Given the description of an element on the screen output the (x, y) to click on. 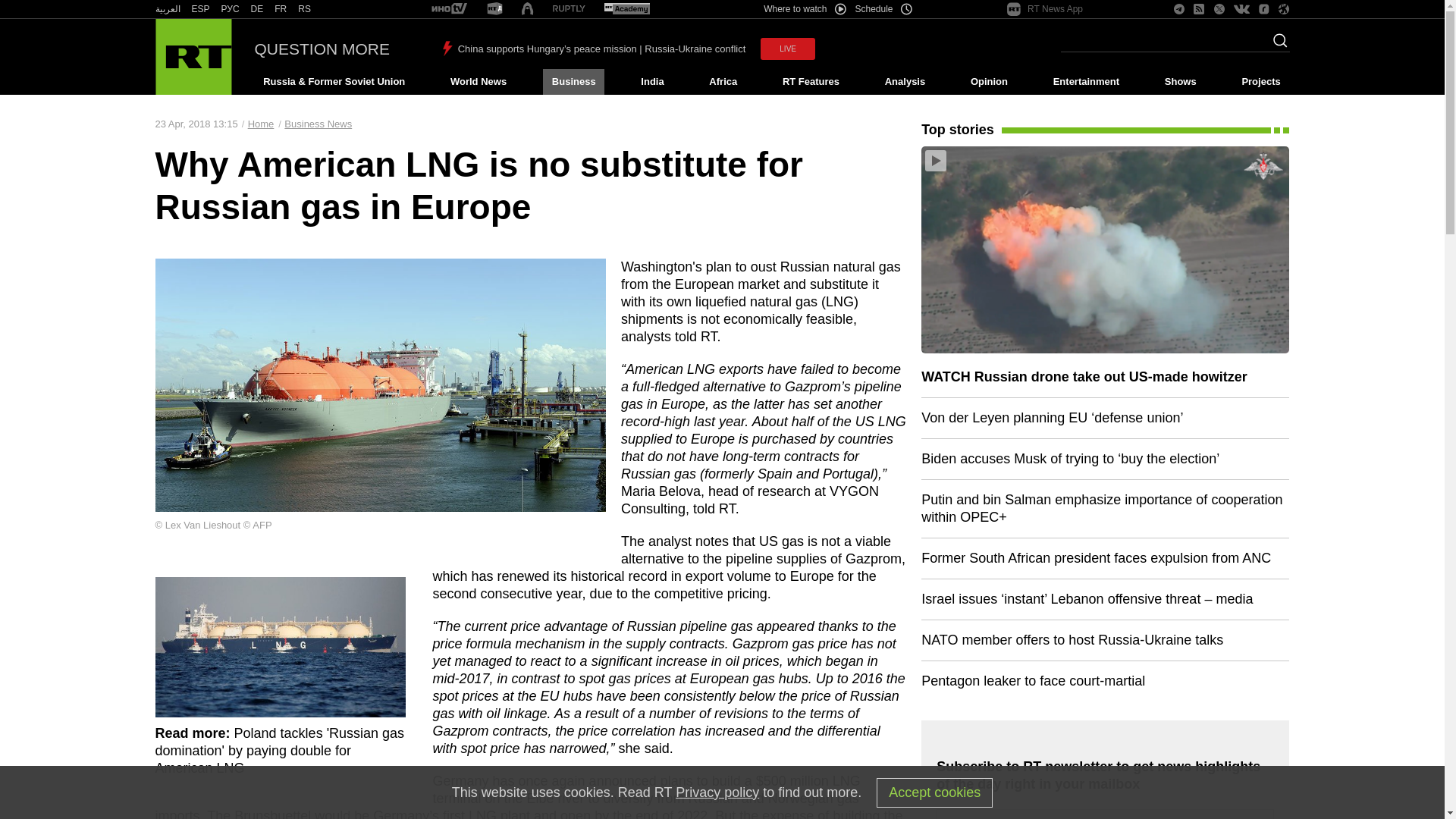
Where to watch (803, 9)
RT  (569, 8)
RT  (494, 9)
India (651, 81)
RT  (448, 9)
RT  (230, 9)
RT News App (1045, 9)
RT  (256, 9)
RS (304, 9)
Africa (722, 81)
Shows (1180, 81)
Business (573, 81)
Projects (1261, 81)
Entertainment (1085, 81)
QUESTION MORE (322, 48)
